Given the description of an element on the screen output the (x, y) to click on. 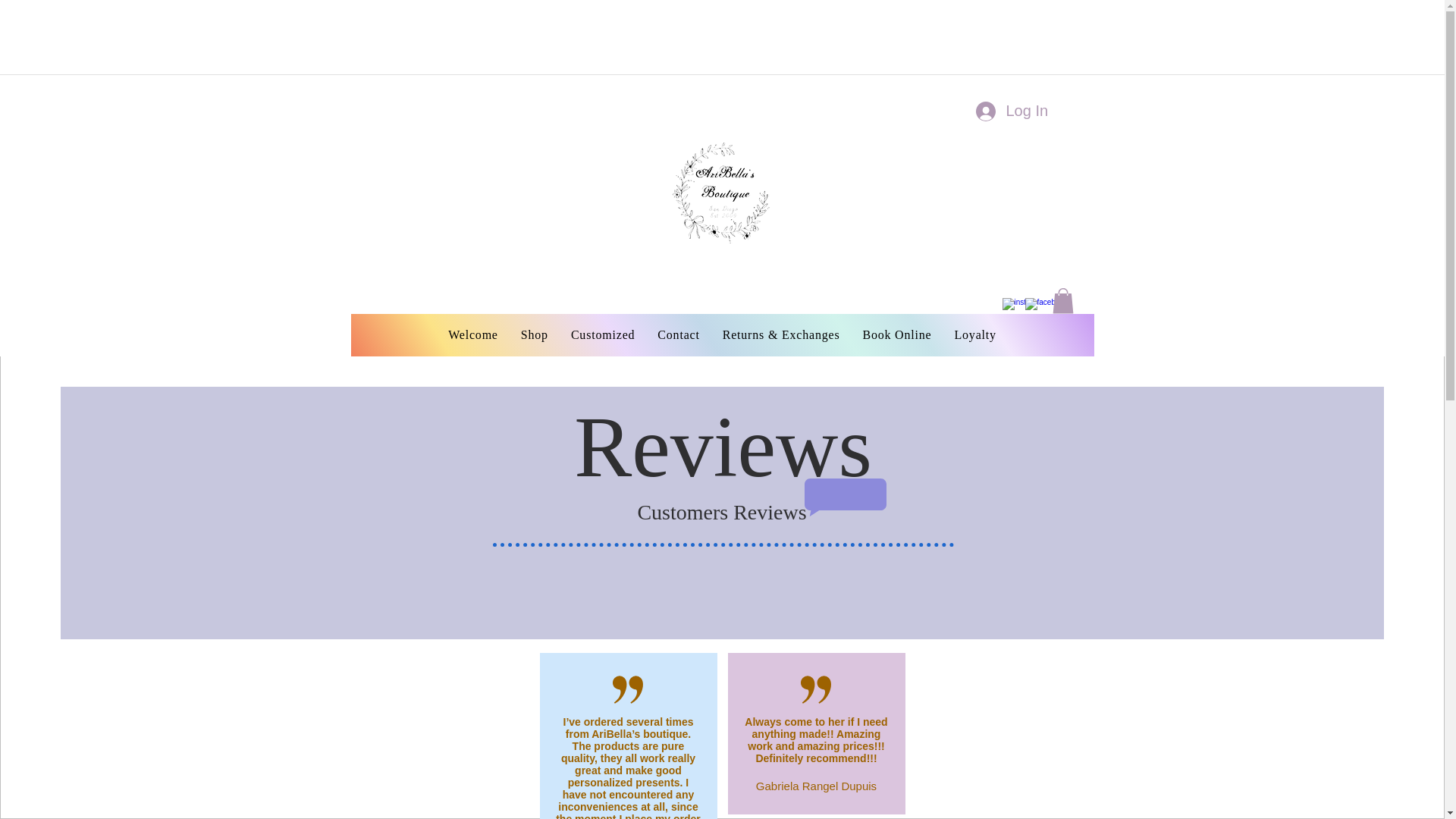
Book Online (896, 334)
Contact (677, 334)
Loyalty (974, 334)
Log In (1009, 110)
Customized (602, 334)
Welcome (473, 334)
Shop (534, 334)
